Given the description of an element on the screen output the (x, y) to click on. 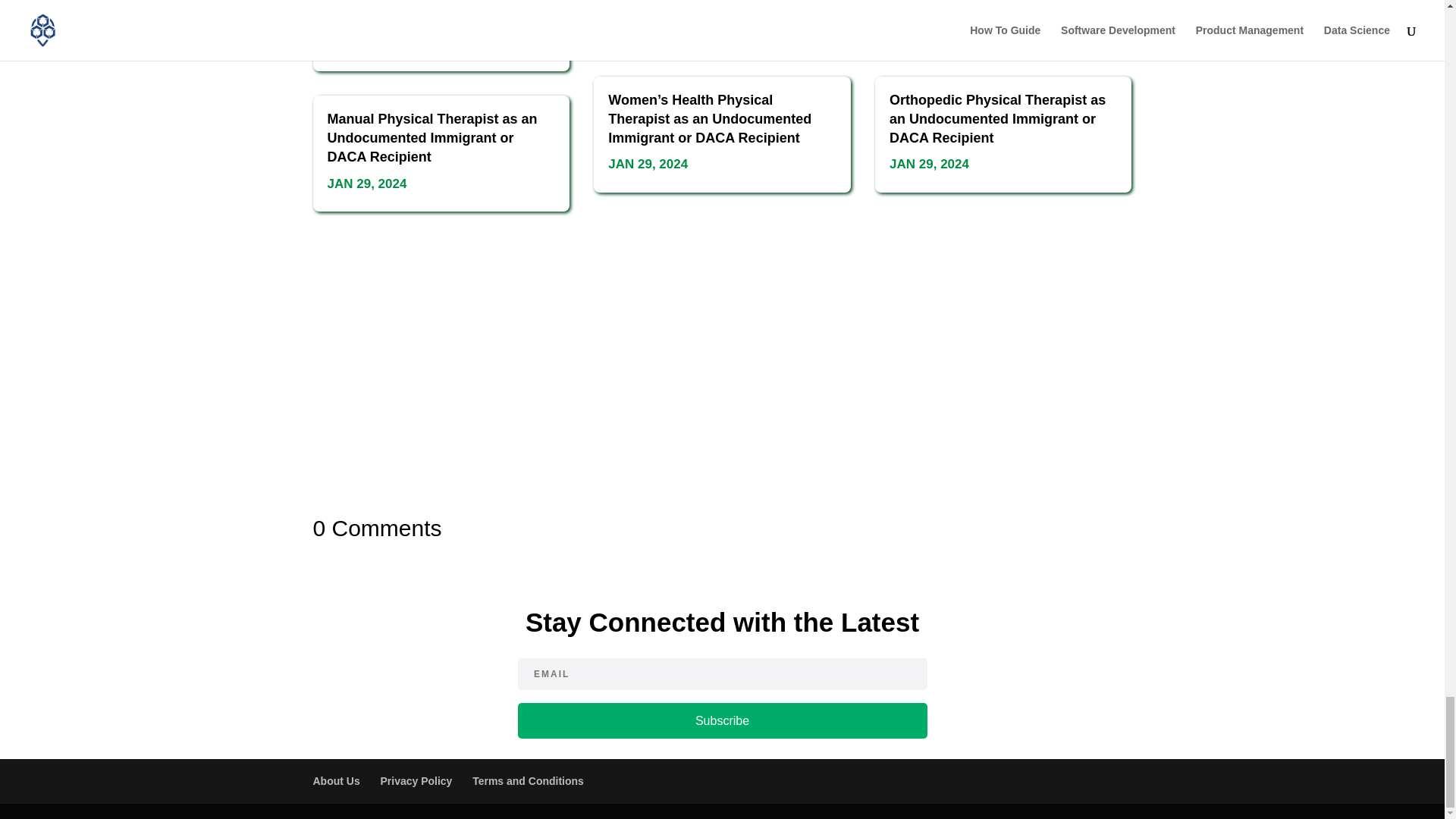
Privacy Policy (415, 780)
Subscribe (721, 720)
About Us (336, 780)
Terms and Conditions (527, 780)
